Given the description of an element on the screen output the (x, y) to click on. 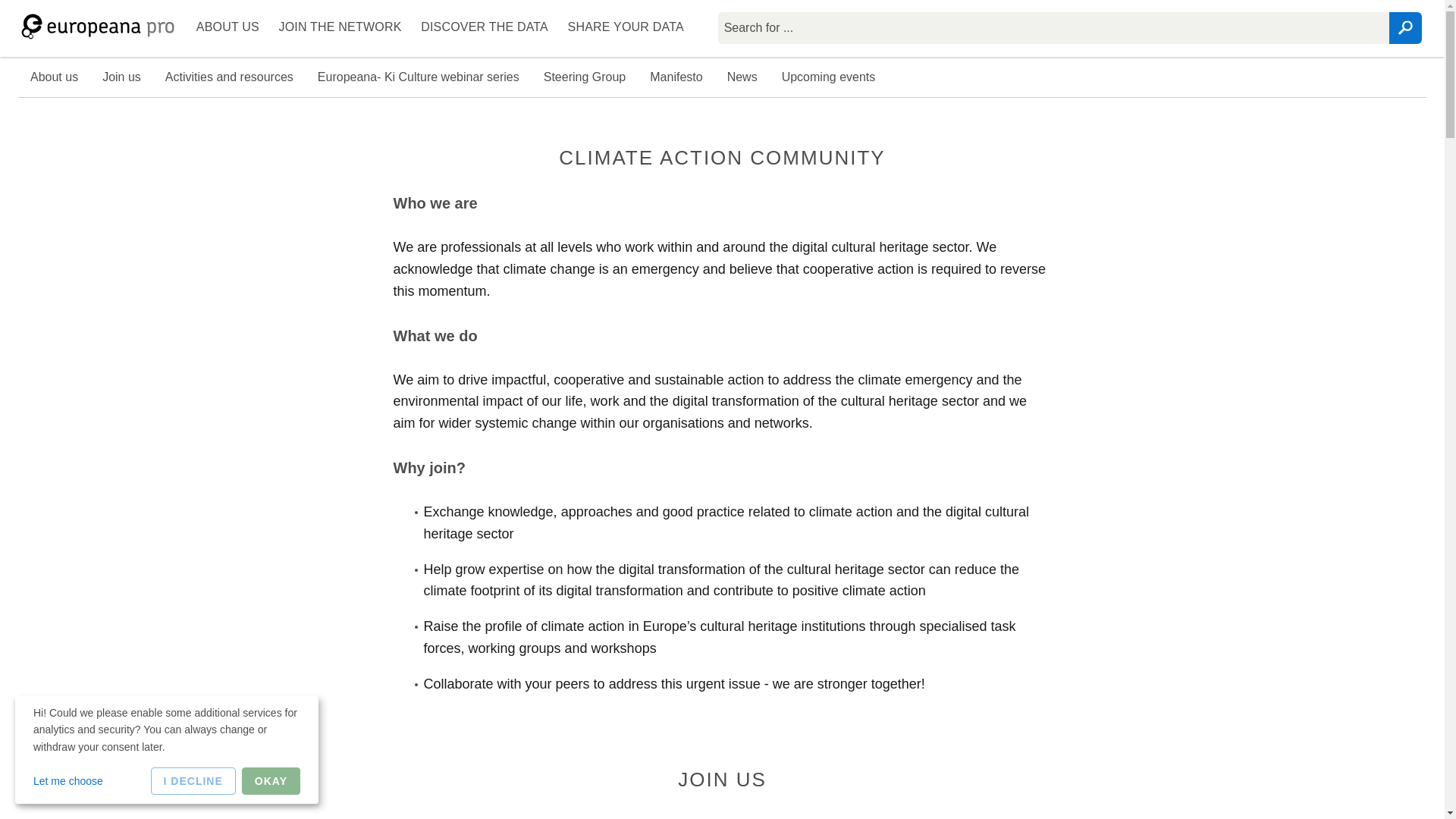
Join us (121, 76)
Discover the data (483, 28)
ABOUT US (227, 28)
Europeana- Ki Culture webinar series (418, 76)
SEARCH (1405, 28)
DISCOVER THE DATA (483, 28)
Activities and resources (228, 76)
Manifesto (675, 76)
Share your data (625, 28)
About us (227, 28)
Upcoming events (829, 76)
About us (53, 76)
Join the network (340, 28)
SHARE YOUR DATA (625, 28)
Steering Group (585, 76)
